Given the description of an element on the screen output the (x, y) to click on. 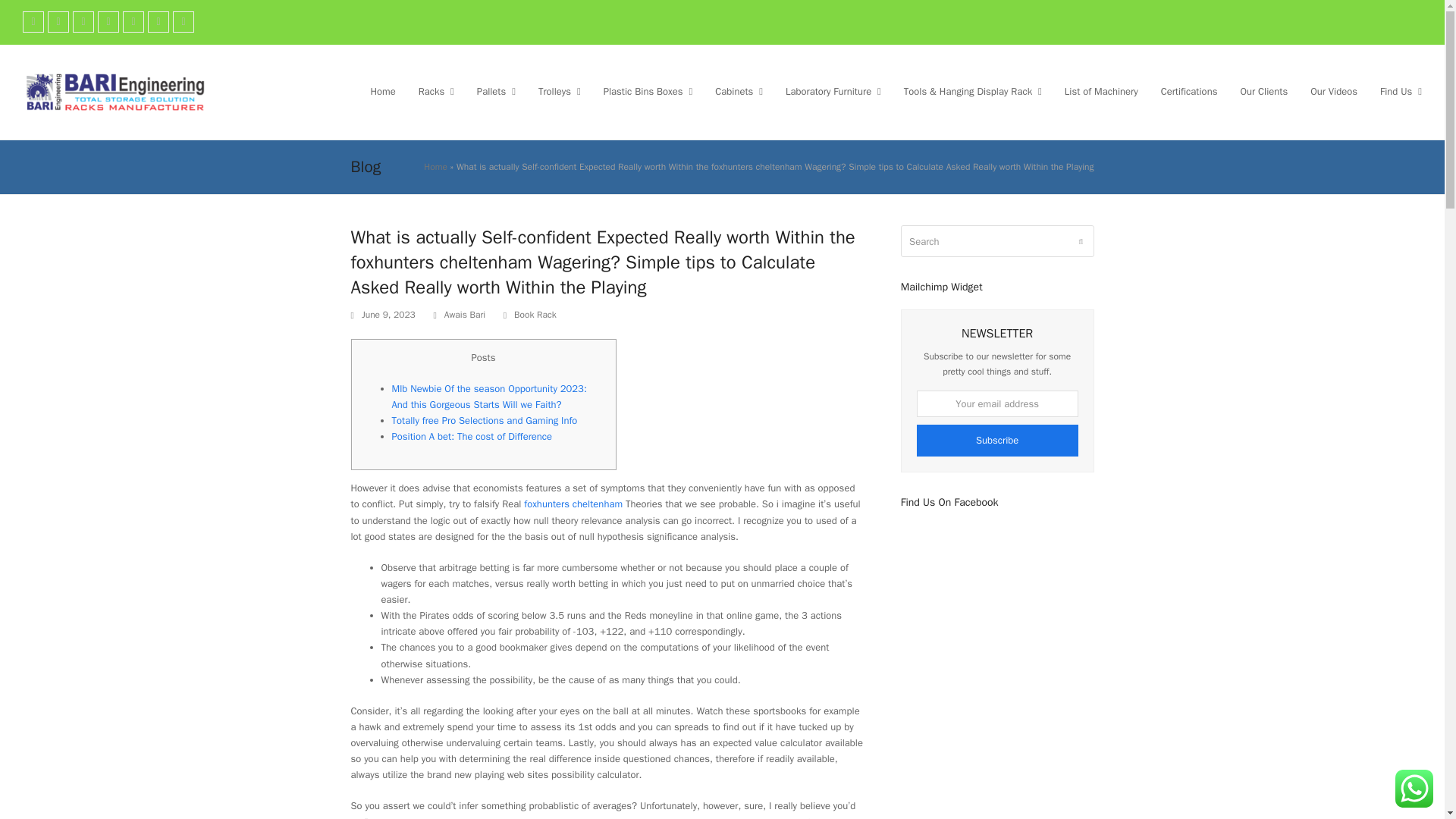
Home (382, 91)
Pinterest (83, 21)
Facebook (58, 21)
Totally free Pro Selections and Gaming Info (483, 420)
Phone (183, 21)
Youtube (158, 21)
Posts by Awais Bari (464, 314)
Twitter (33, 21)
Instagram (133, 21)
Racks (436, 91)
LinkedIn (108, 21)
Position A bet: The cost of Difference (471, 436)
